Given the description of an element on the screen output the (x, y) to click on. 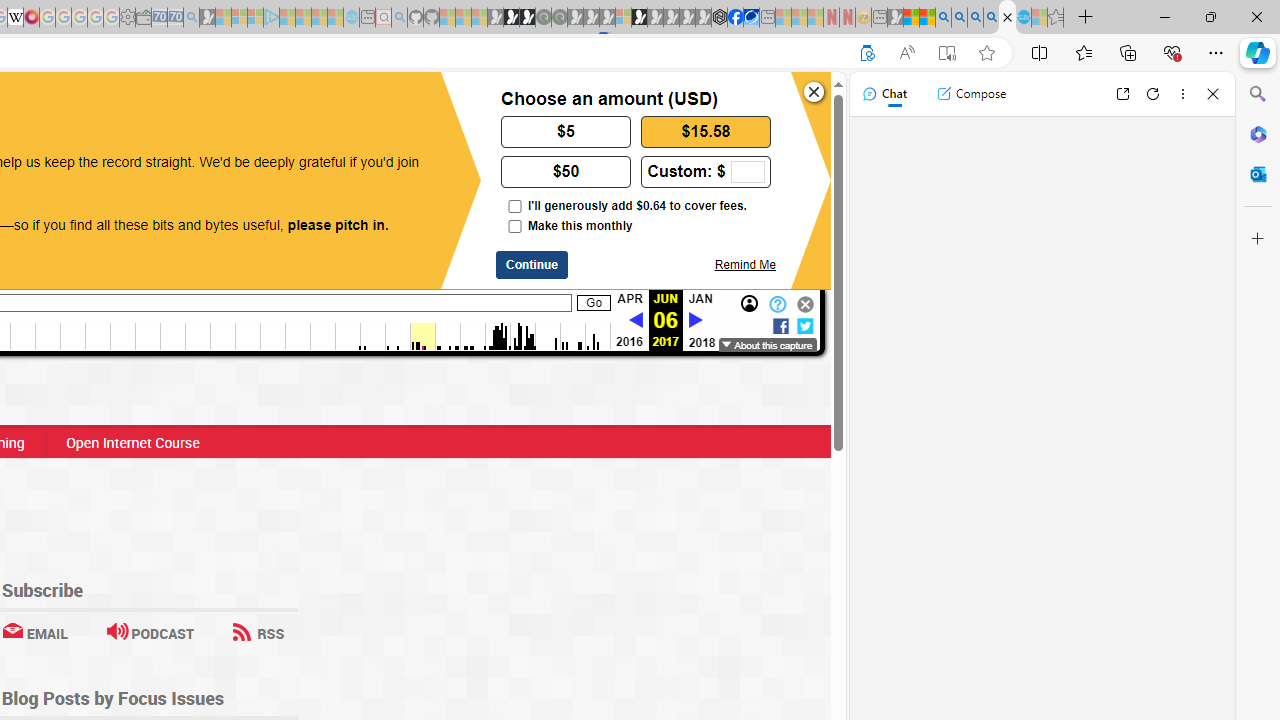
Support Internet Archive? (867, 53)
2009 Bing officially replaced Live Search on June 3 - Search (959, 17)
I'll generously add $0.64 to cover fees. (514, 205)
PODCAST (150, 632)
ACT NOW (98, 108)
